Given the description of an element on the screen output the (x, y) to click on. 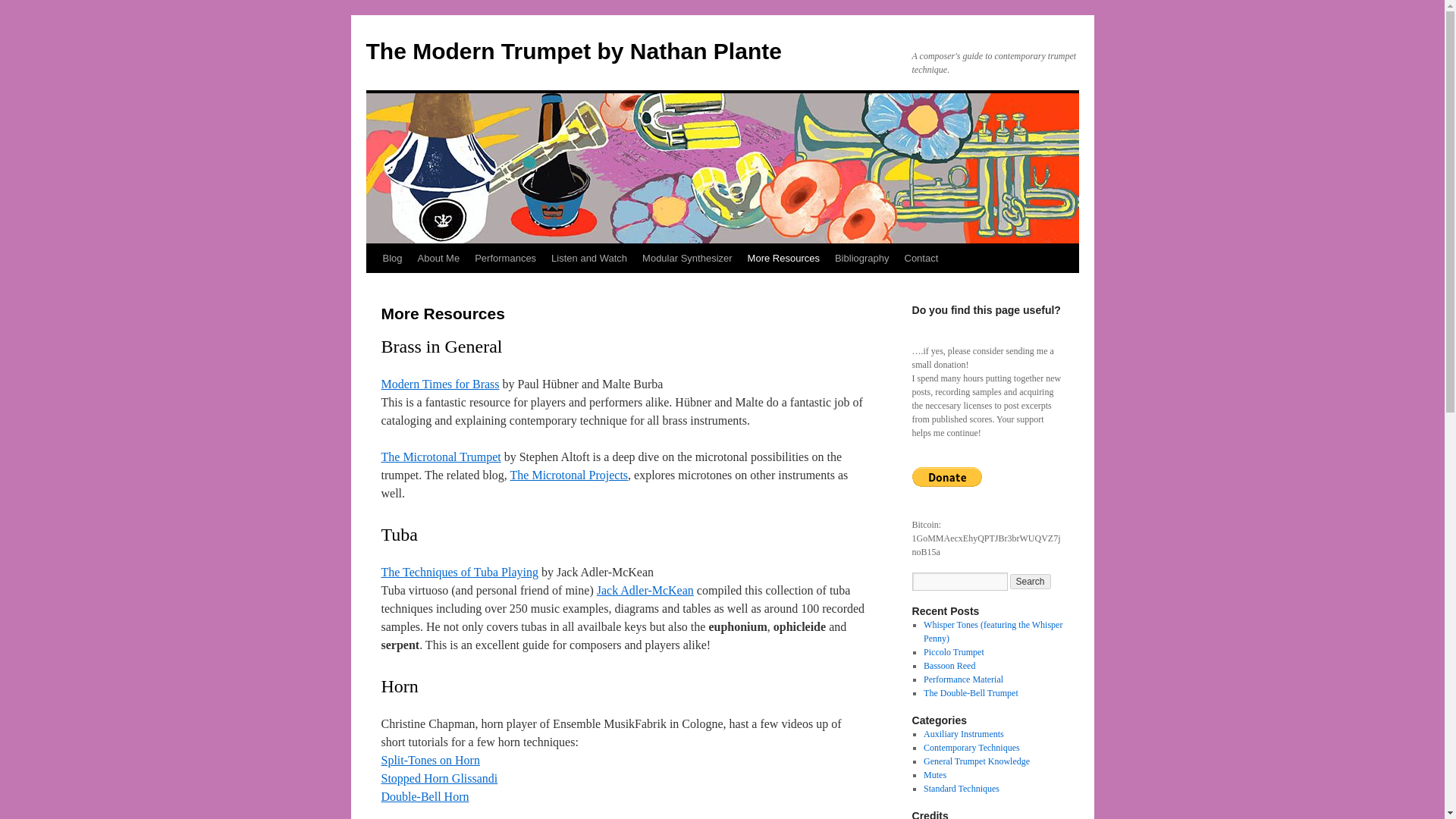
Mutes (934, 774)
Auxiliary Instruments (963, 733)
Search (1030, 581)
PayPal - The safer, easier way to pay online! (946, 476)
Performance Material (963, 679)
Contemporary Techniques (971, 747)
More Resources (783, 258)
Modern Times for Brass (439, 383)
Stopped Horn Glissandi (438, 778)
Bassoon Reed (949, 665)
